Given the description of an element on the screen output the (x, y) to click on. 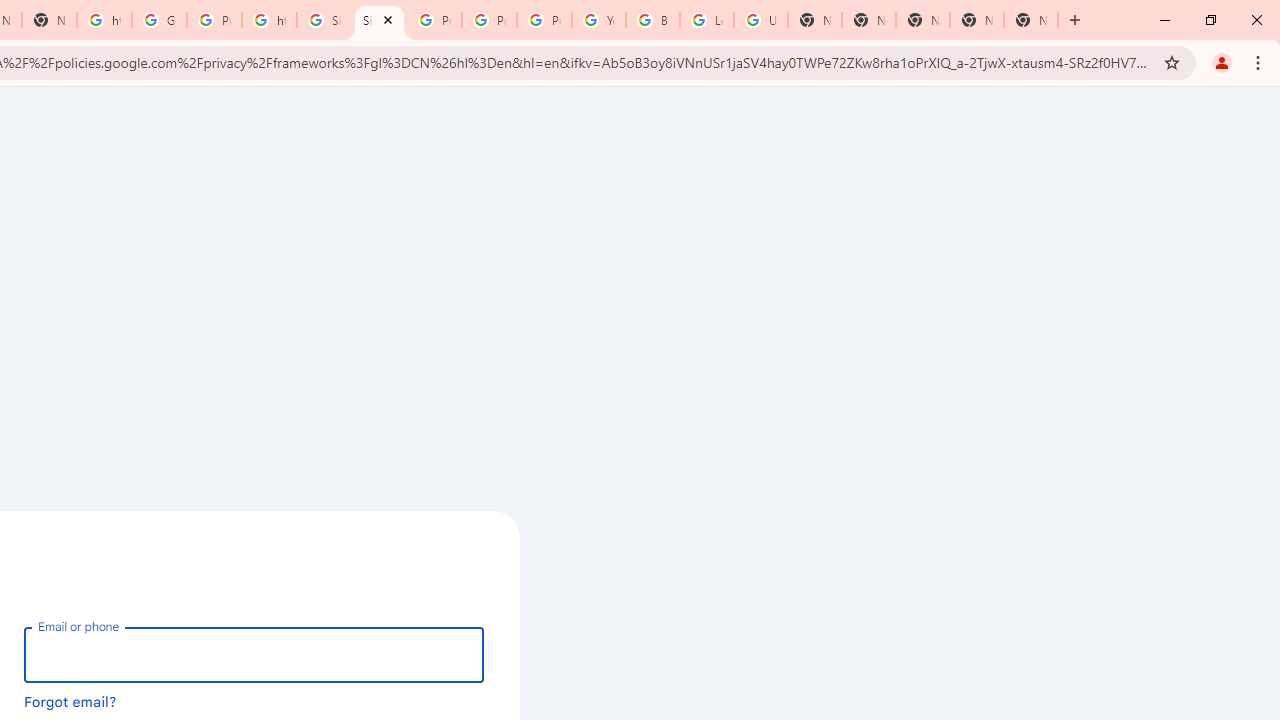
YouTube (598, 20)
Sign in - Google Accounts (324, 20)
Privacy Help Center - Policies Help (489, 20)
Email or phone (253, 654)
https://scholar.google.com/ (268, 20)
